Given the description of an element on the screen output the (x, y) to click on. 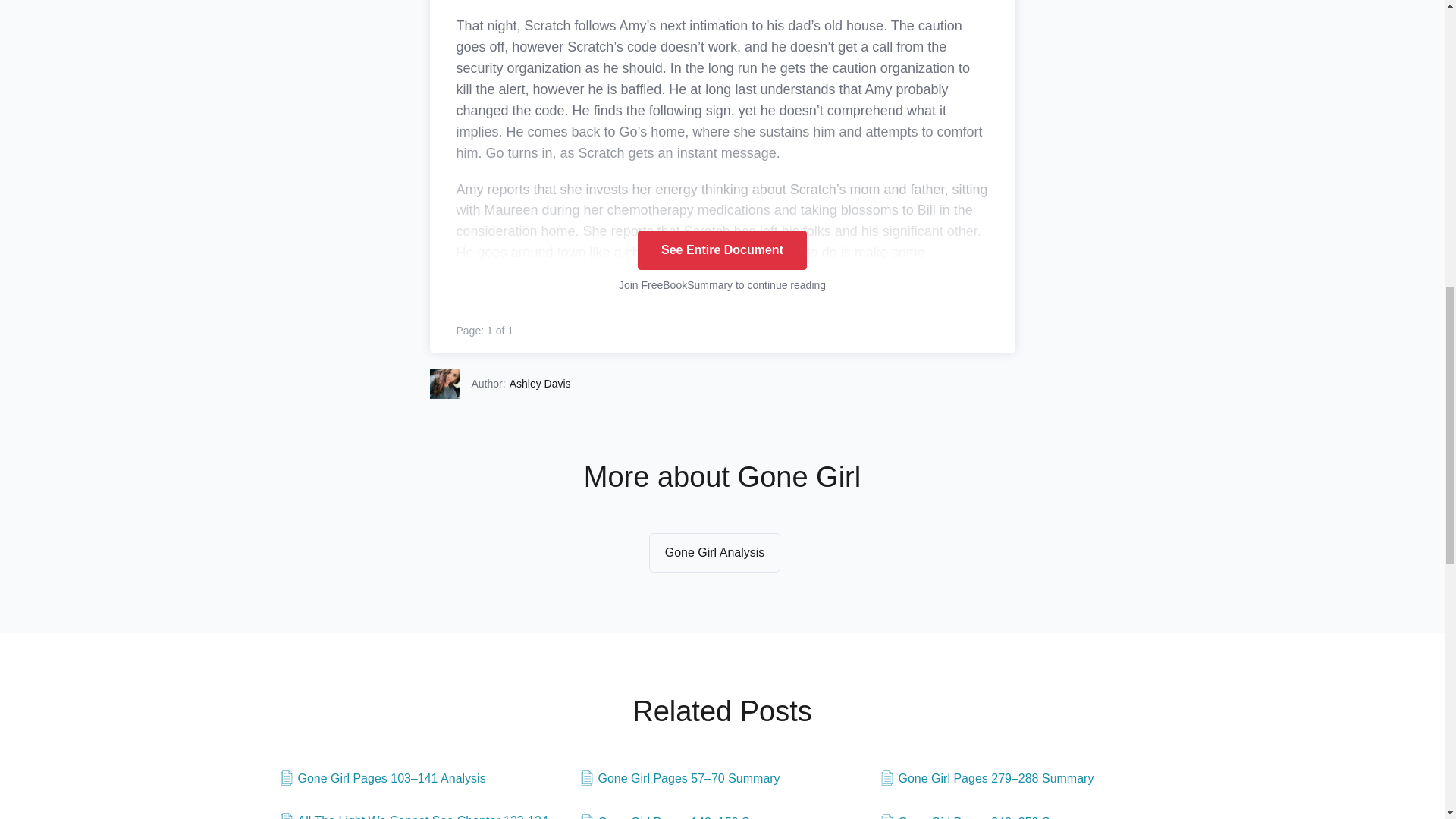
Gone Girl Analysis (714, 552)
All The Light We Cannot See Chapter 123-124 Summary (422, 815)
